Given the description of an element on the screen output the (x, y) to click on. 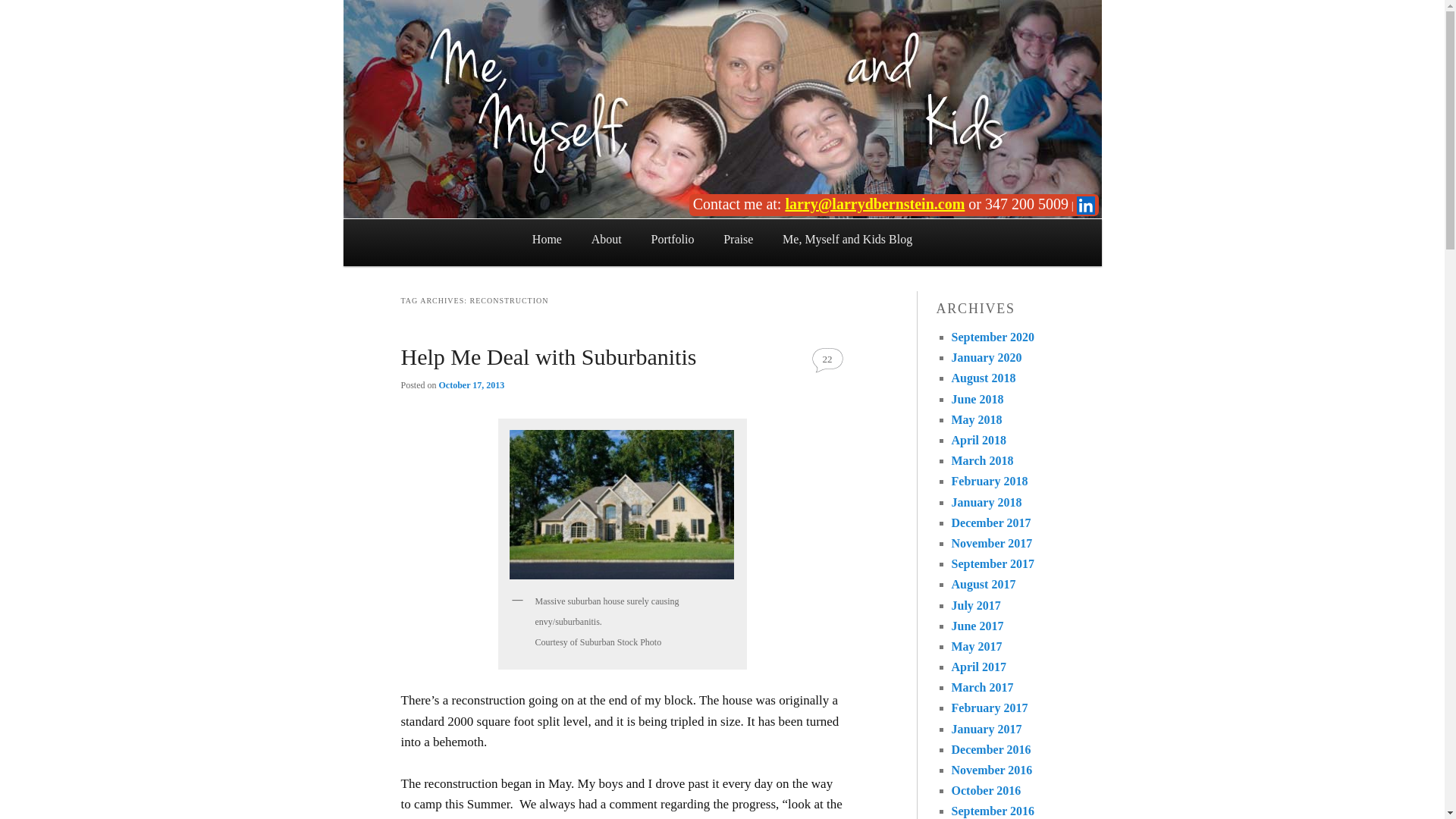
Me, Myself and Kids Blog (847, 239)
March 2018 (981, 460)
Help Me Deal with Suburbanitis (547, 356)
April 2018 (978, 440)
22 (827, 359)
May 2018 (975, 419)
Praise (738, 239)
Portfolio (672, 239)
Home (546, 239)
June 2018 (976, 399)
October 17, 2013 (472, 385)
August 2018 (982, 377)
February 2018 (988, 481)
January 2018 (986, 502)
